Given the description of an element on the screen output the (x, y) to click on. 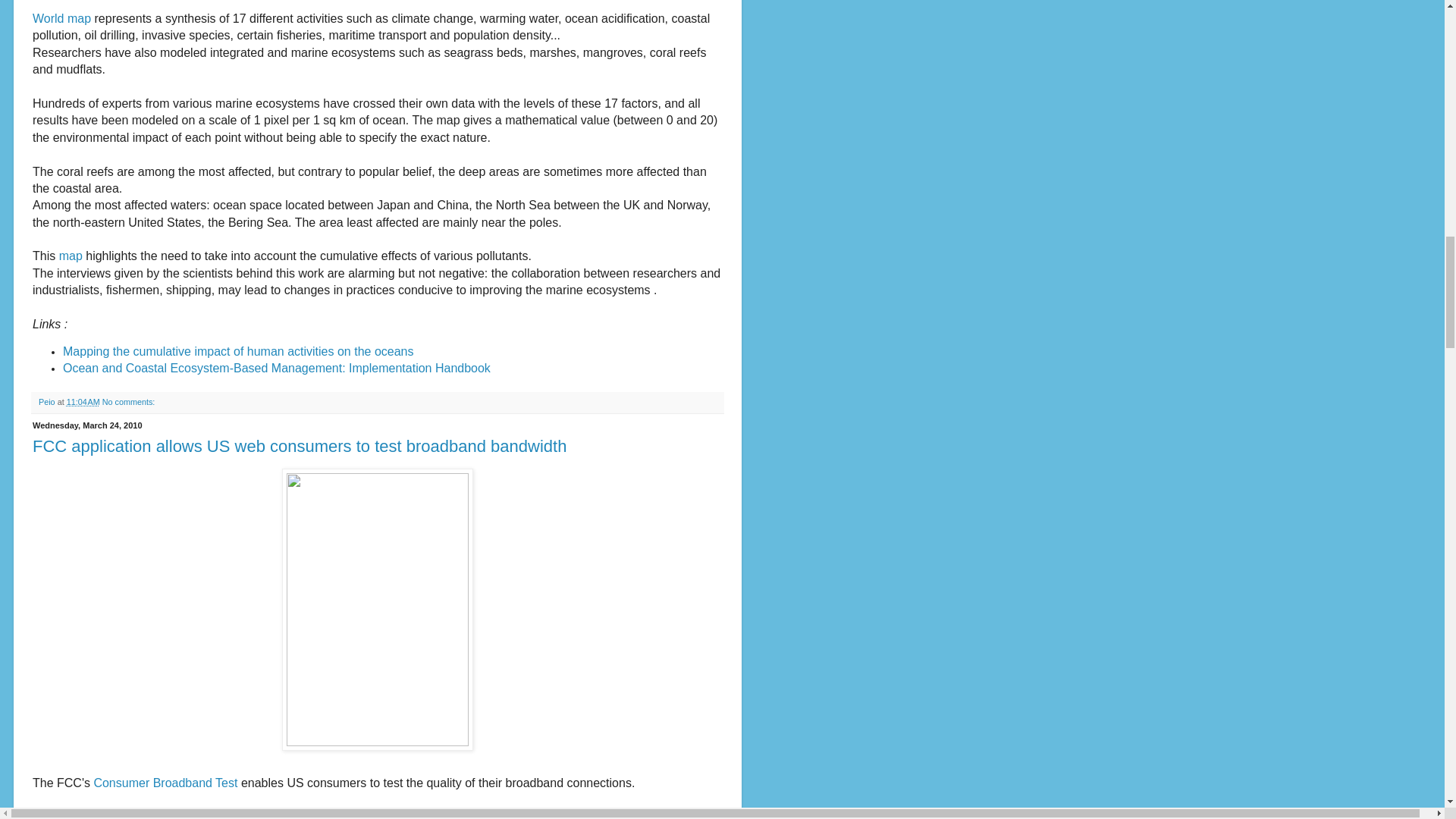
No comments: (128, 401)
permanent link (83, 401)
map (70, 255)
Peio (48, 401)
author profile (48, 401)
World map (61, 18)
